Given the description of an element on the screen output the (x, y) to click on. 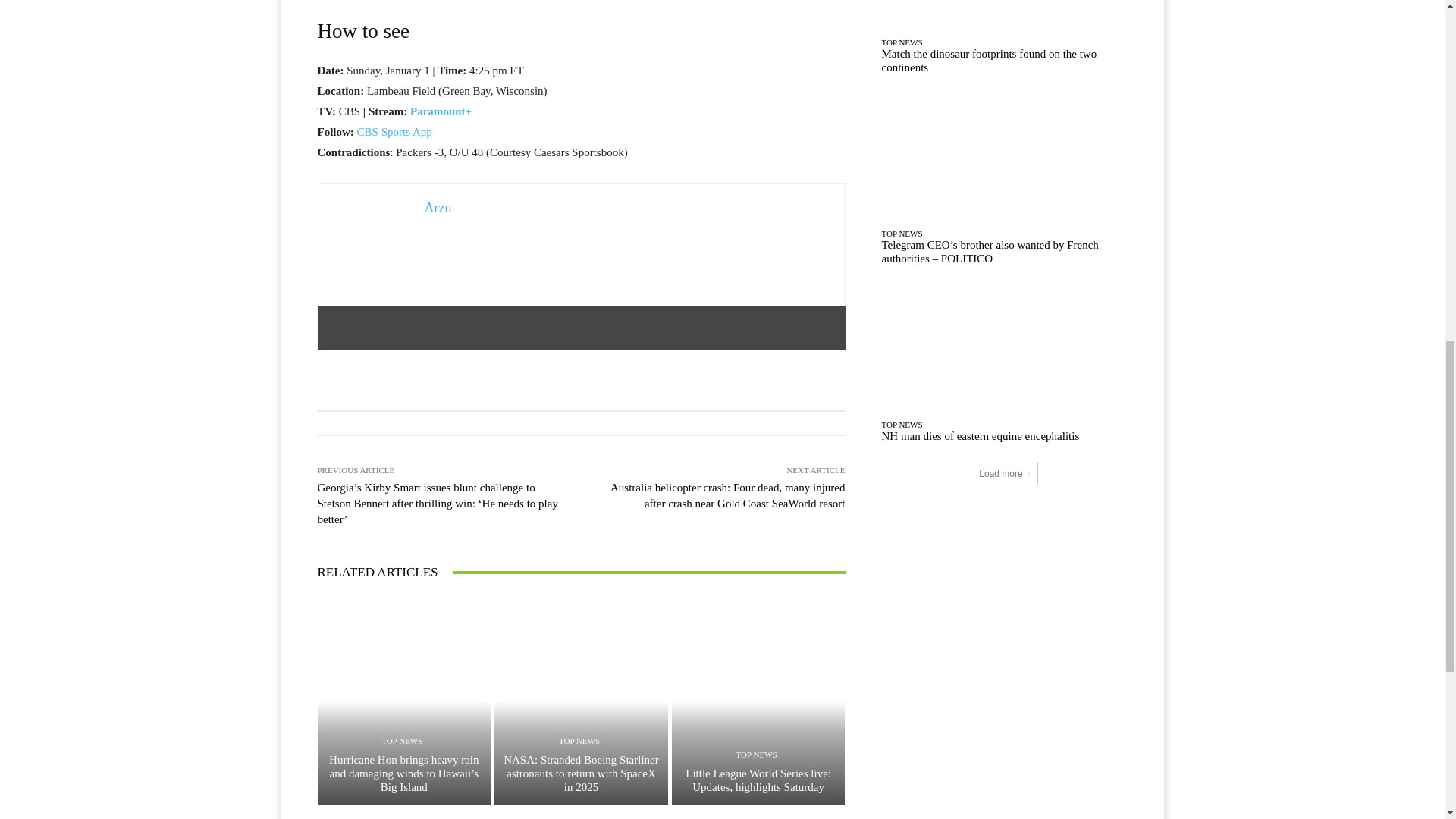
Arzu (438, 207)
TOP NEWS (756, 755)
CBS Sports App (394, 132)
TOP NEWS (401, 741)
TOP NEWS (579, 741)
See also  4 Ways to Protect Your Child From the Summer Heat (580, 328)
